Given the description of an element on the screen output the (x, y) to click on. 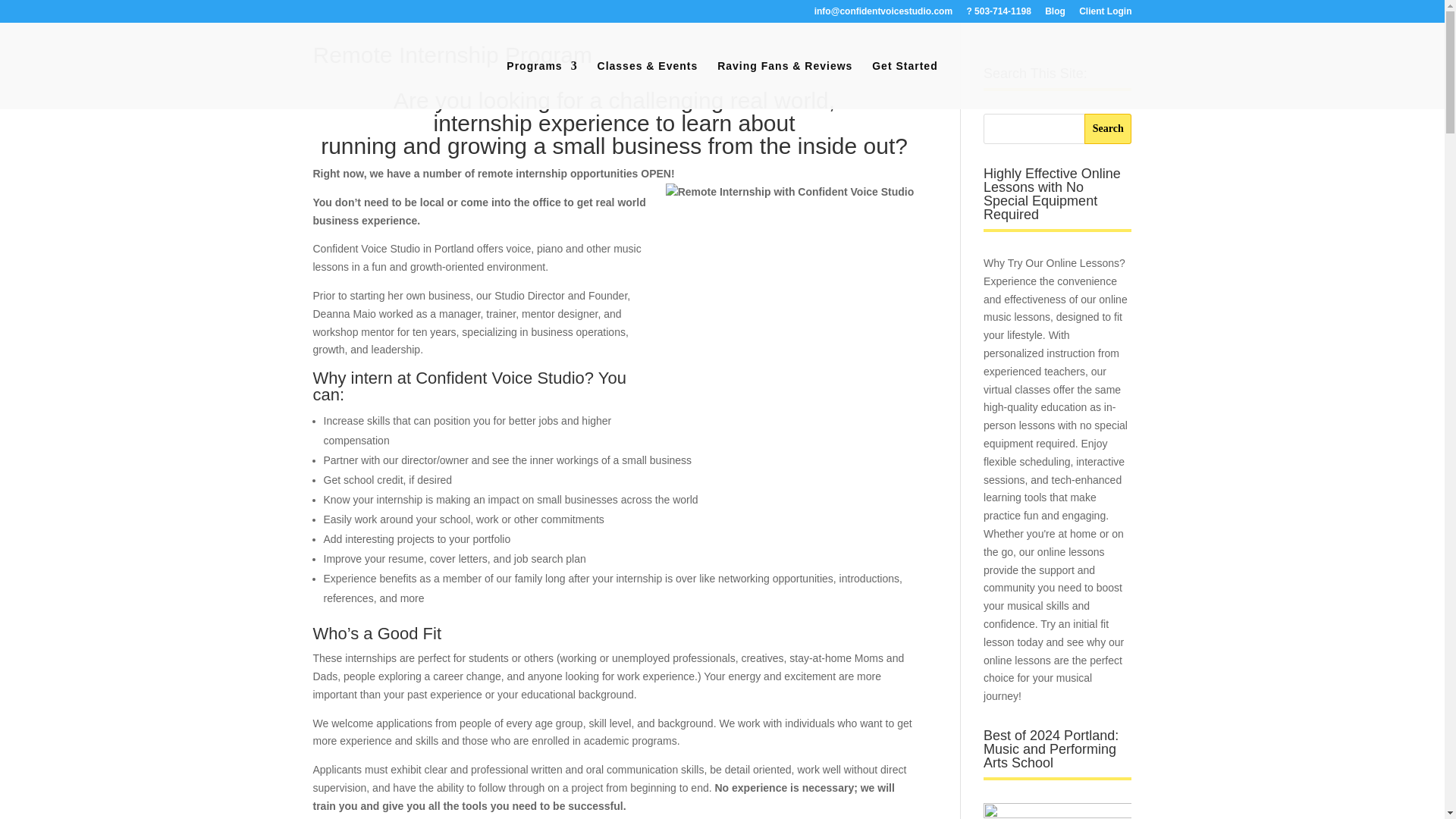
Get Started (904, 84)
Search (1108, 128)
Programs (541, 84)
Client Login (1104, 14)
Search (1108, 128)
? 503-714-1198 (998, 14)
Blog (1055, 14)
